Given the description of an element on the screen output the (x, y) to click on. 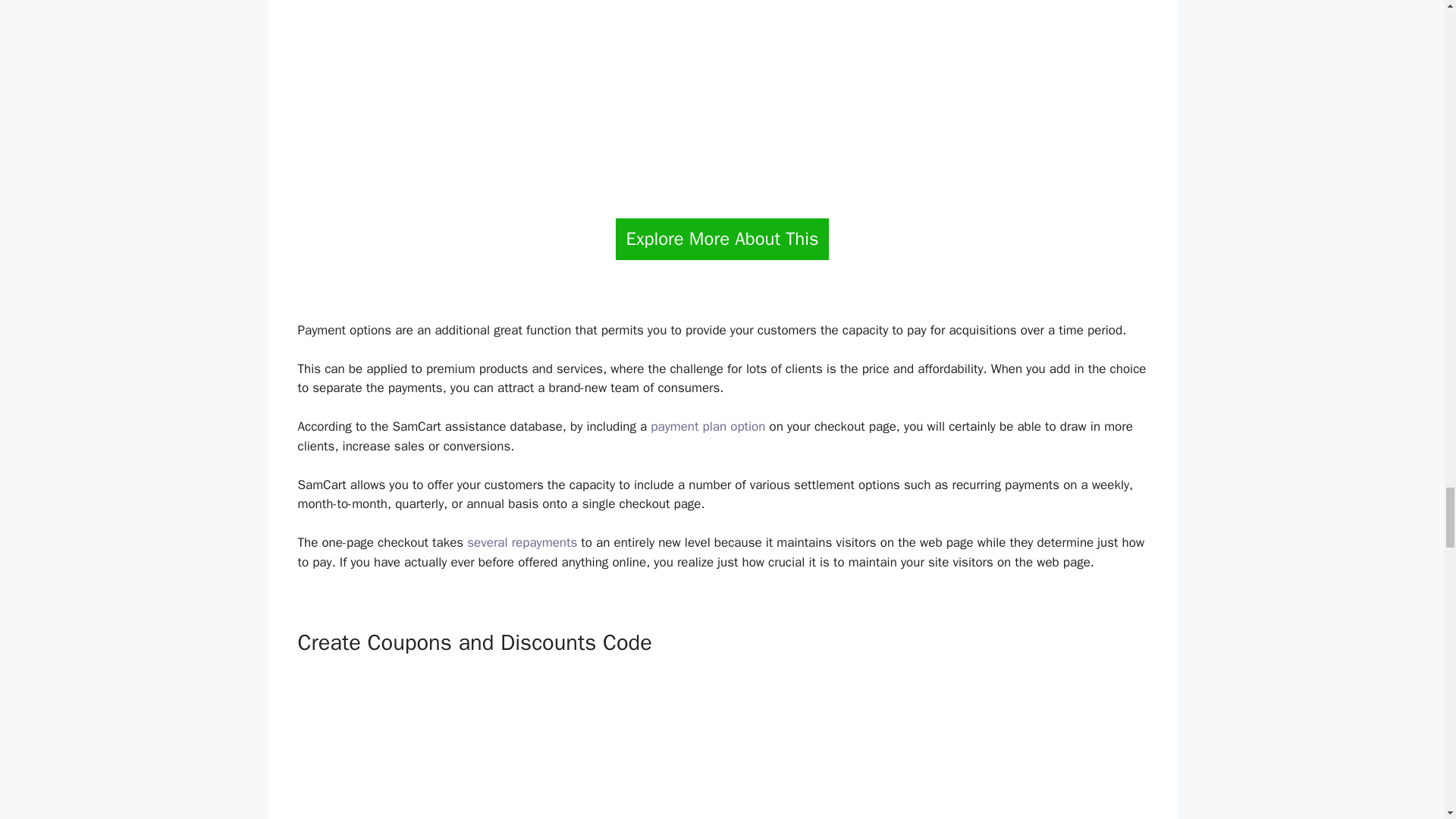
several repayments (521, 542)
payment plan option (707, 426)
Explore More About This (721, 239)
